Given the description of an element on the screen output the (x, y) to click on. 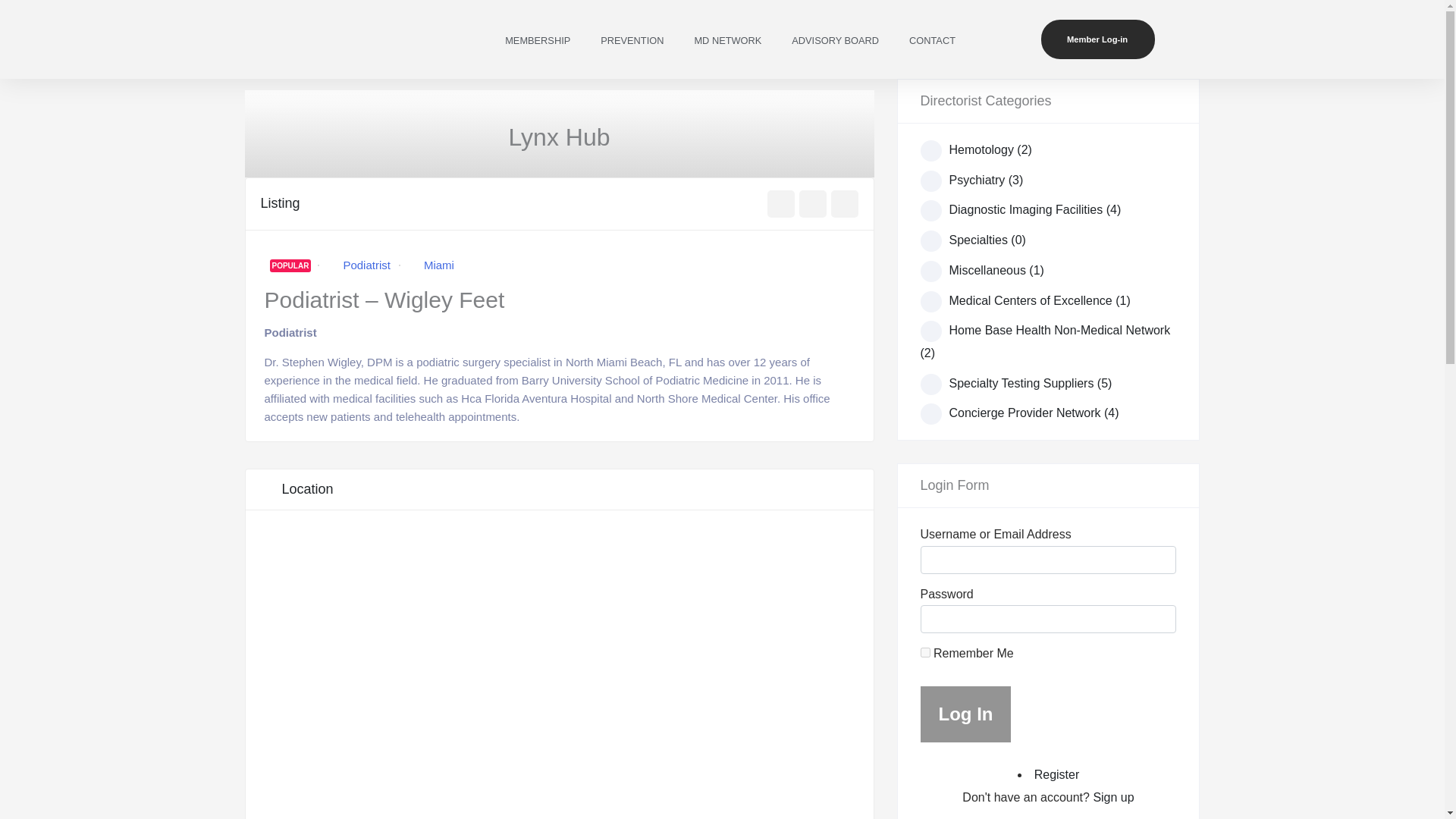
CONTACT (932, 40)
PREVENTION (631, 40)
Log In (965, 714)
forever (925, 652)
Podiatrist (366, 264)
Member Log-in (1096, 39)
MD NETWORK (727, 40)
Miami (438, 264)
MEMBERSHIP (537, 40)
ADVISORY BOARD (834, 40)
